Given the description of an element on the screen output the (x, y) to click on. 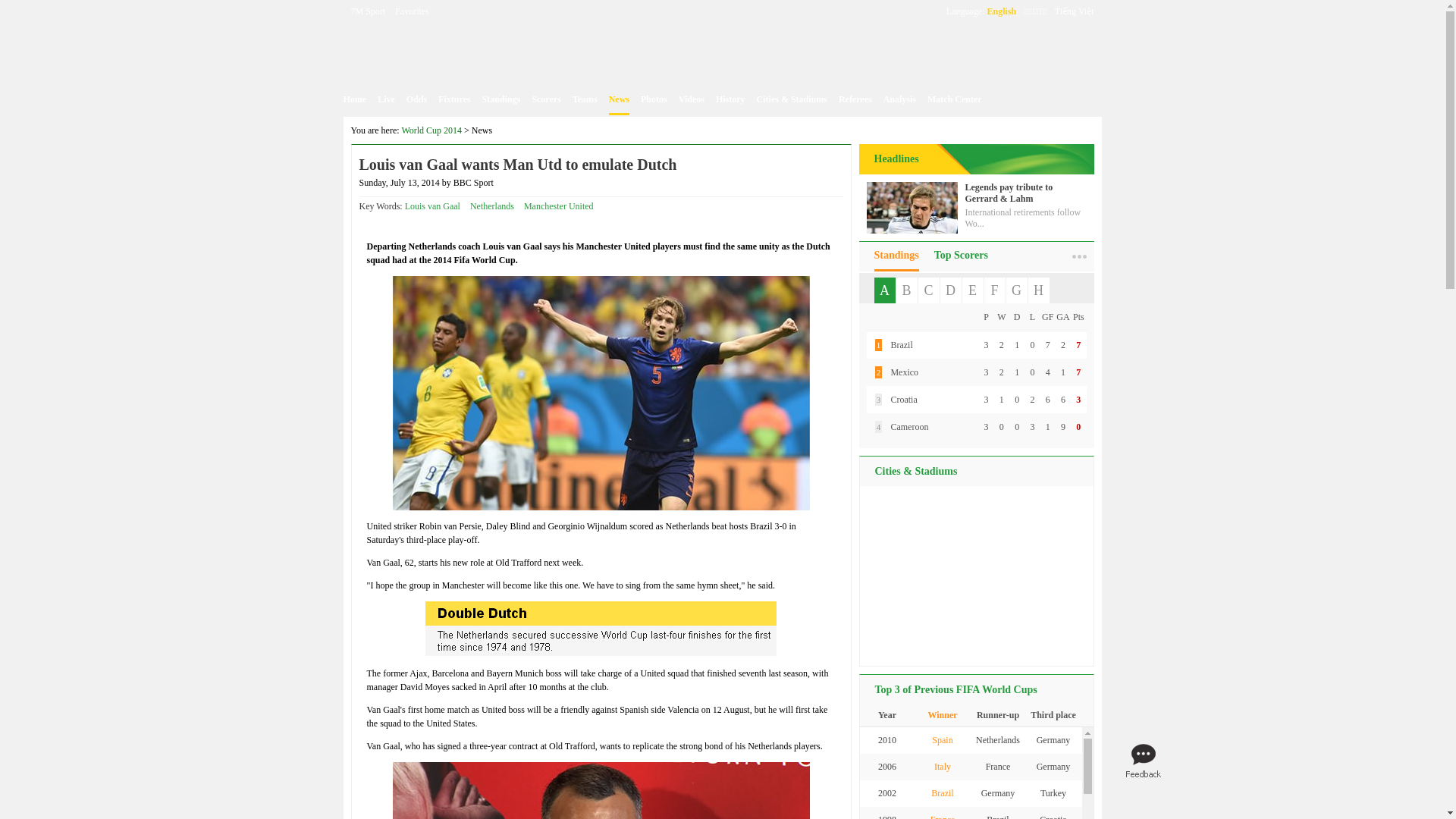
Scorers (545, 99)
Favorites (411, 10)
Fixtures (454, 99)
Standings (501, 99)
Teams (584, 99)
7M Sport (367, 10)
English (1001, 10)
